Given the description of an element on the screen output the (x, y) to click on. 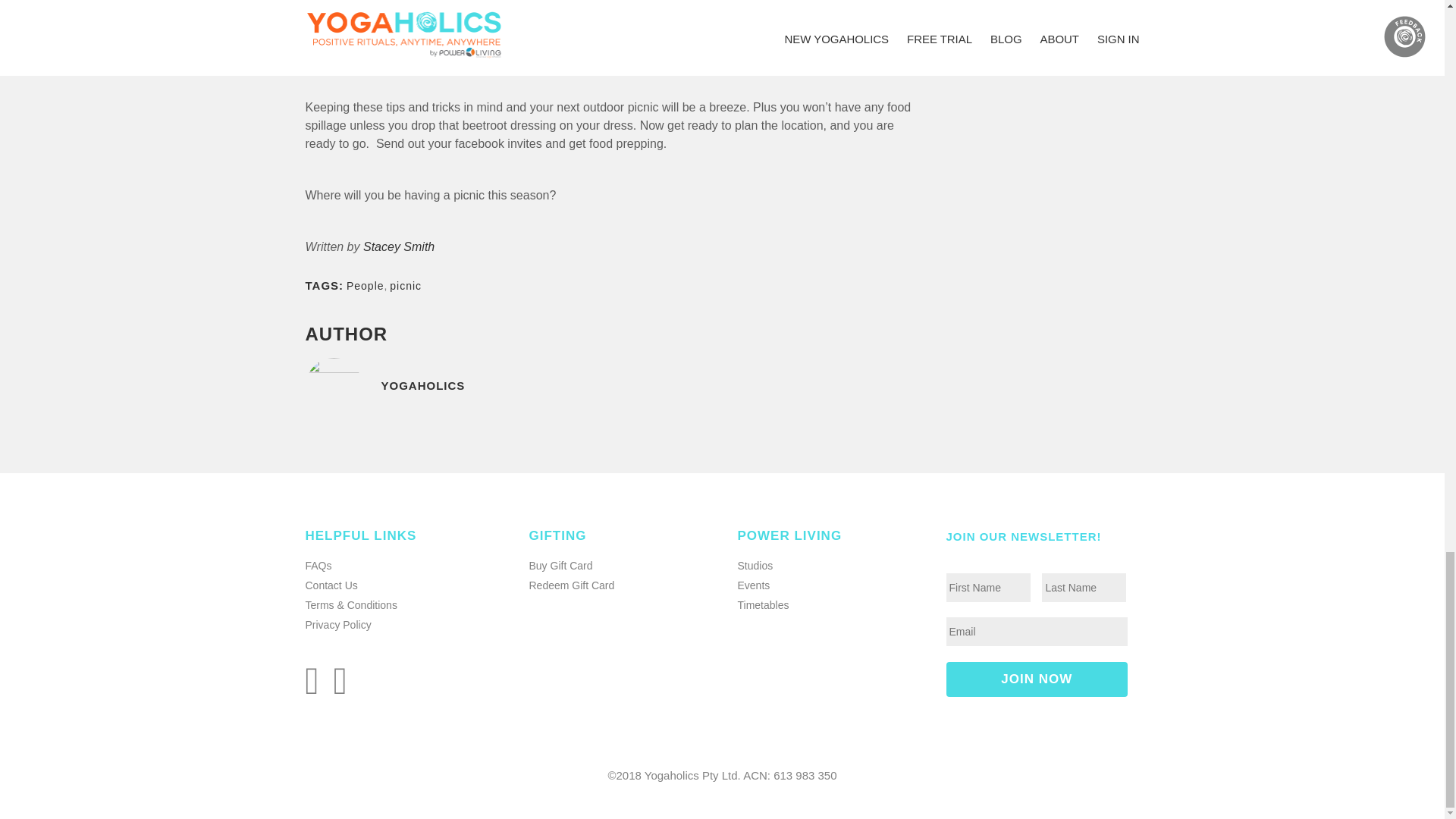
Join Now (1037, 678)
Studios (754, 565)
Buy Gift Card (560, 565)
FAQs (317, 565)
Redeem Gift Card (571, 585)
Stacey Smith (397, 246)
Privacy Policy (337, 624)
YOGAHOLICS (609, 395)
People (365, 285)
Contact Us (330, 585)
Events (753, 585)
picnic (406, 285)
